Given the description of an element on the screen output the (x, y) to click on. 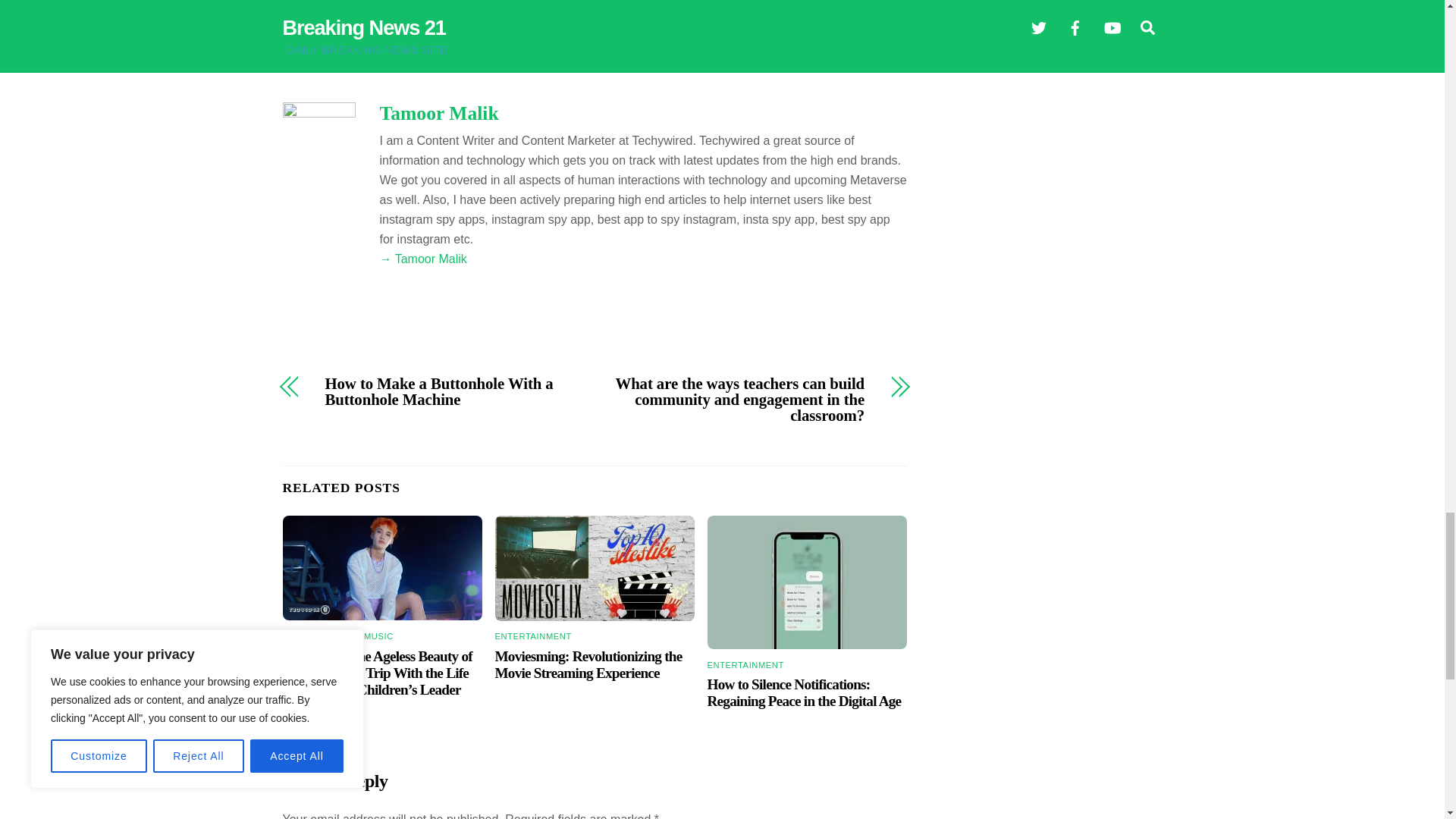
Moviesming: Revolutionizing the Movie Streaming Experience (595, 567)
See Full Bio (611, 8)
Tamoor Malik (437, 113)
MUSIC (378, 635)
ENTERTAINMENT (320, 635)
How to Make a Buttonhole With a Buttonhole Machine (449, 391)
